Given the description of an element on the screen output the (x, y) to click on. 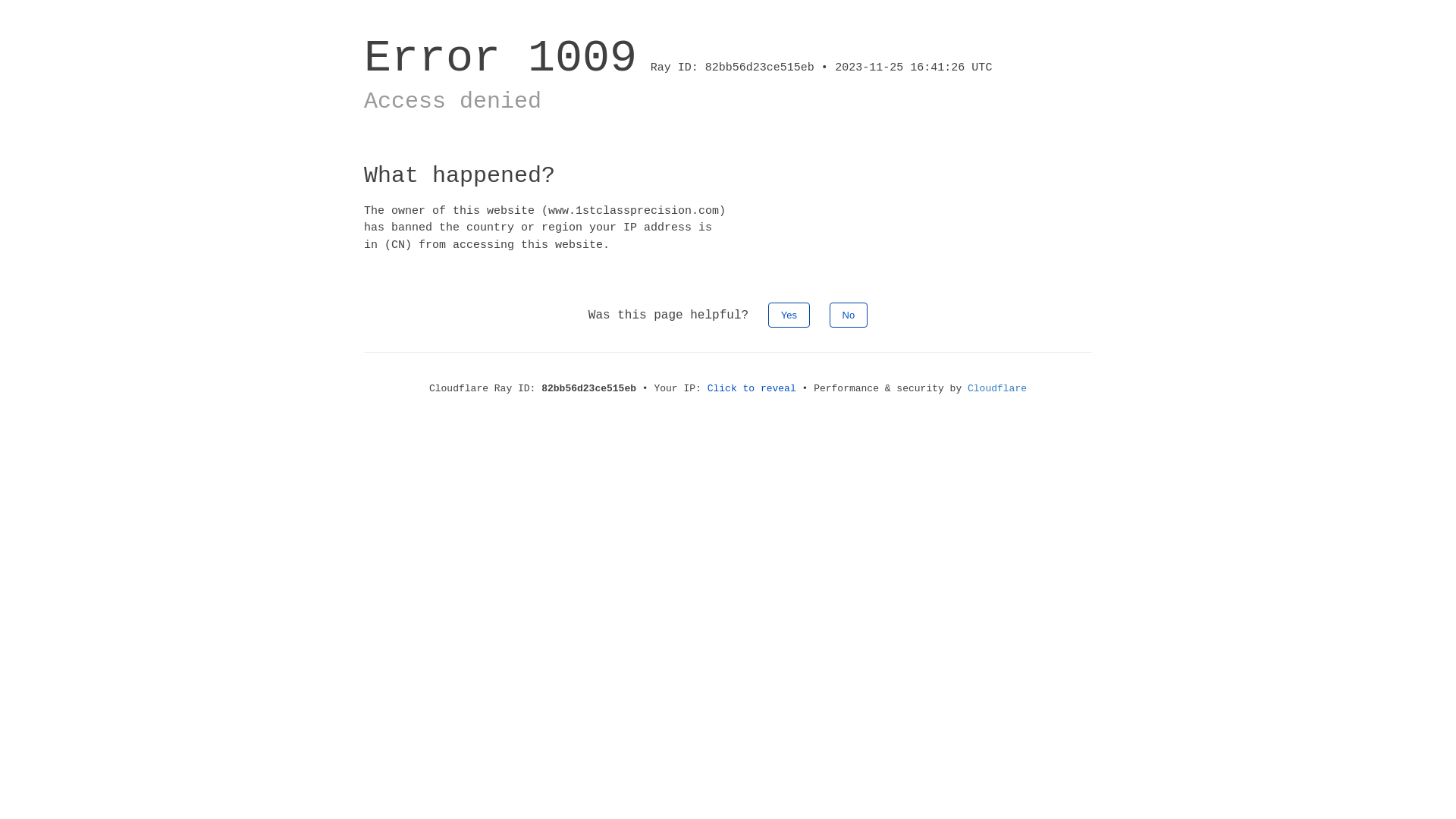
No Element type: text (848, 314)
Yes Element type: text (788, 314)
Click to reveal Element type: text (751, 388)
Cloudflare Element type: text (996, 388)
